Given the description of an element on the screen output the (x, y) to click on. 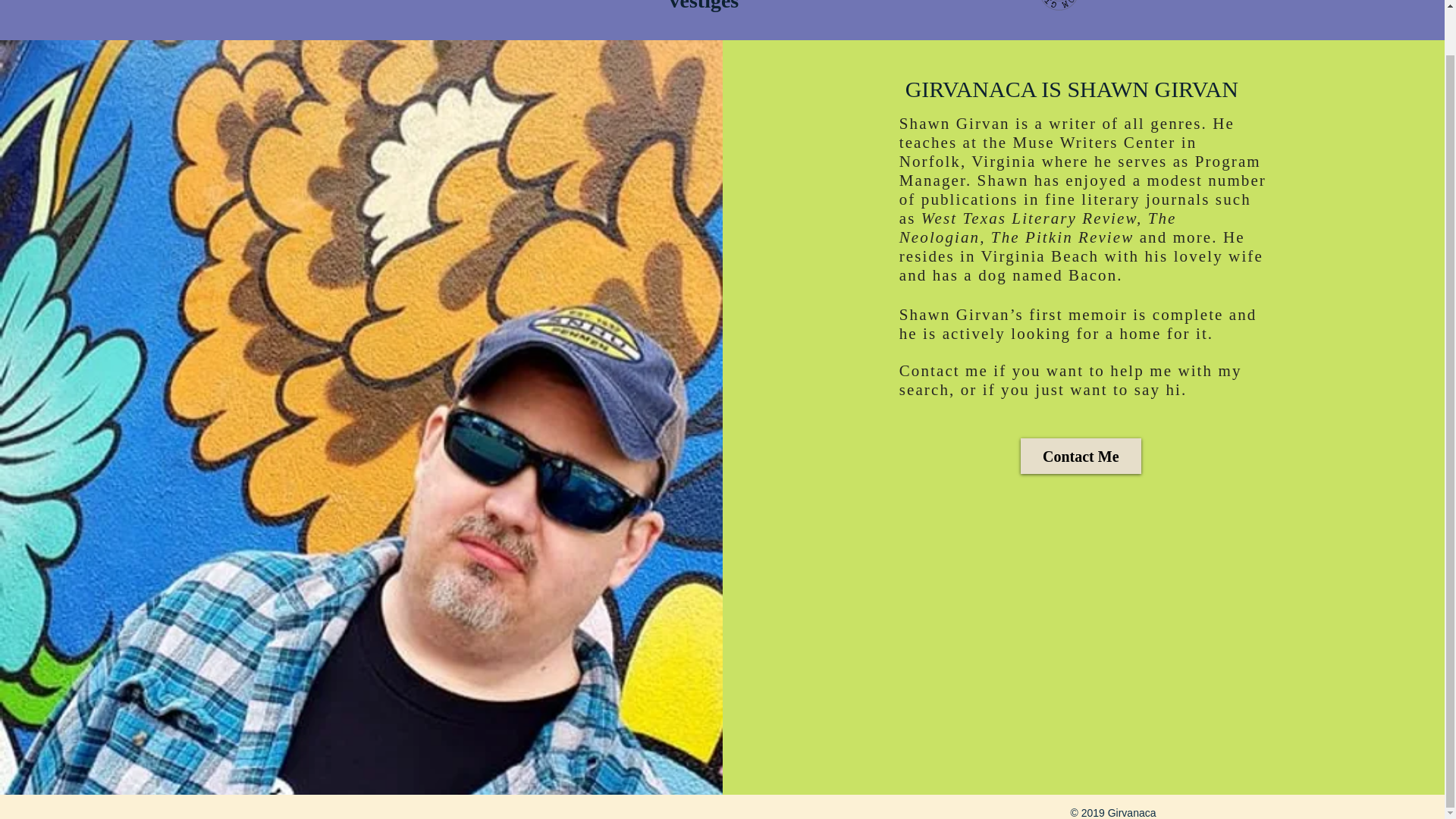
vestiges (703, 6)
Contact Me (1080, 456)
